Given the description of an element on the screen output the (x, y) to click on. 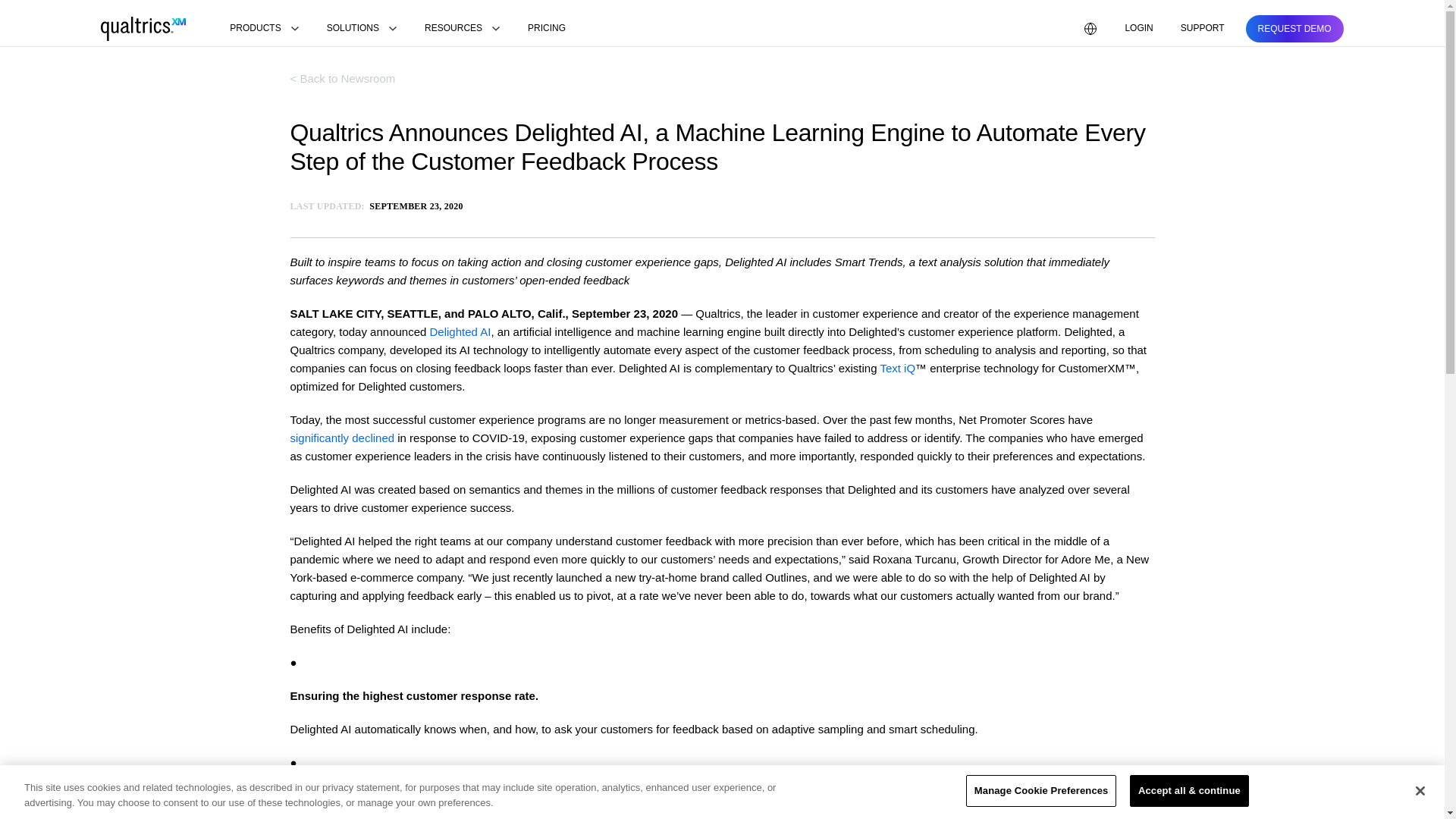
SOLUTIONS (361, 28)
Skip to main content (51, 9)
PRICING (546, 28)
PRODUCTS (264, 28)
RESOURCES (462, 28)
